Given the description of an element on the screen output the (x, y) to click on. 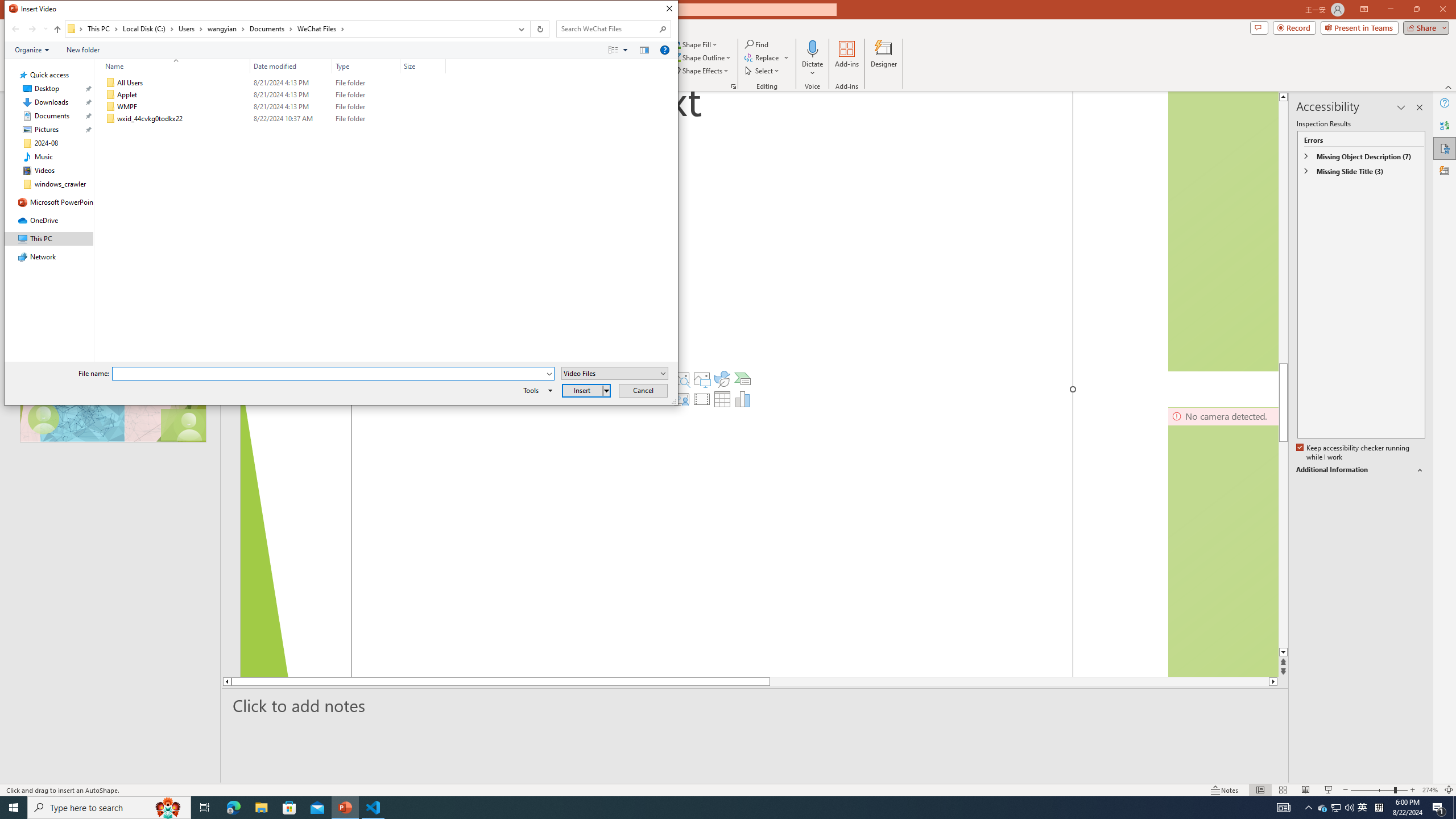
All Users (273, 82)
Address: C:\Users\wangyian\Documents\WeChat Files (288, 28)
Previous Locations (520, 28)
Tools (535, 390)
wxid_44cvkg0todkx22 (273, 119)
View Slider (625, 49)
Date modified (290, 65)
